Given the description of an element on the screen output the (x, y) to click on. 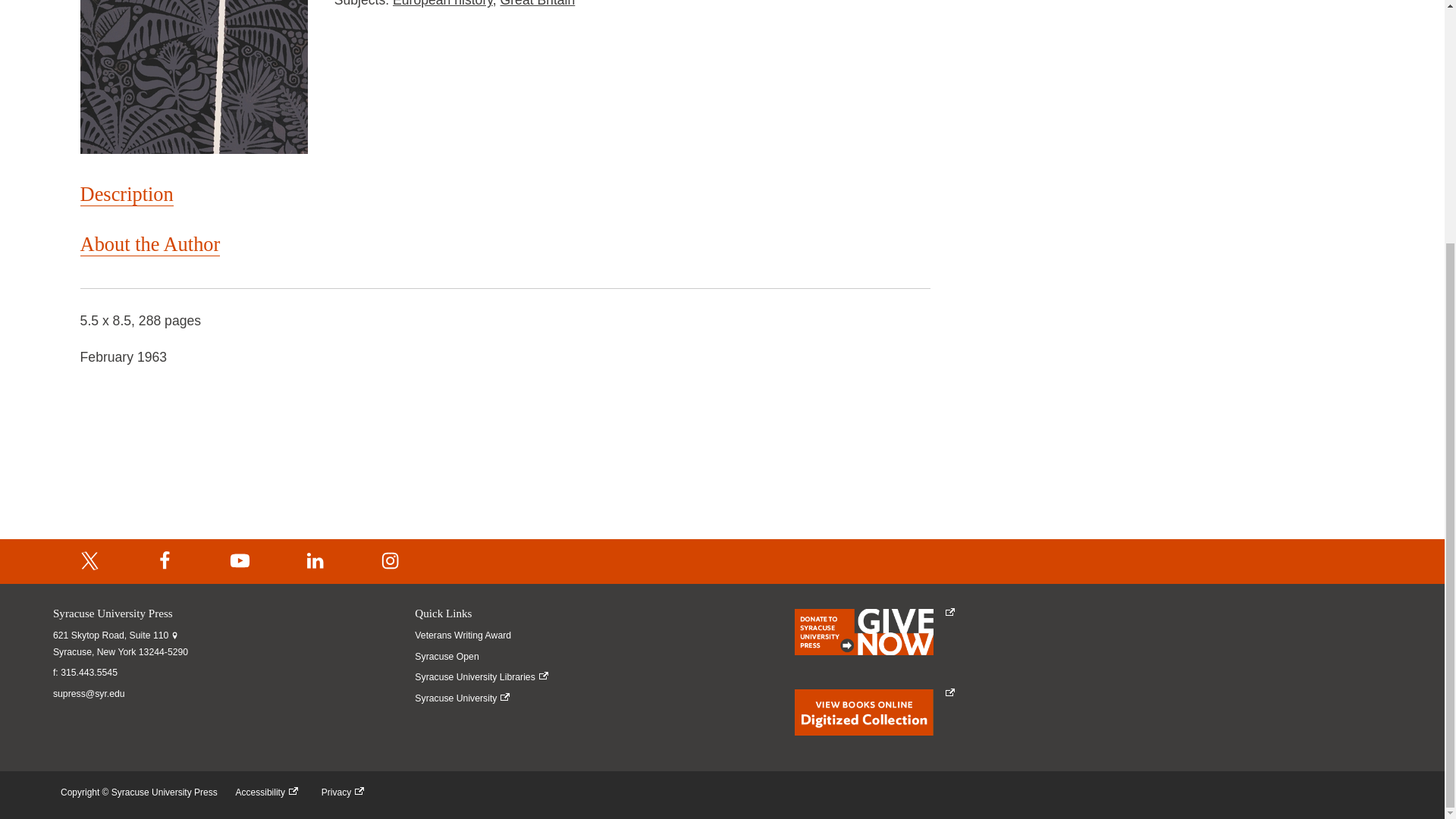
Description (126, 194)
YouTube (240, 561)
X (90, 561)
Syracuse University Libraries (483, 677)
Open location in Google Maps (119, 644)
About the Author (150, 244)
Great Britain (537, 3)
Facebook (165, 561)
Privacy (345, 792)
LinkedIn (315, 561)
